Given the description of an element on the screen output the (x, y) to click on. 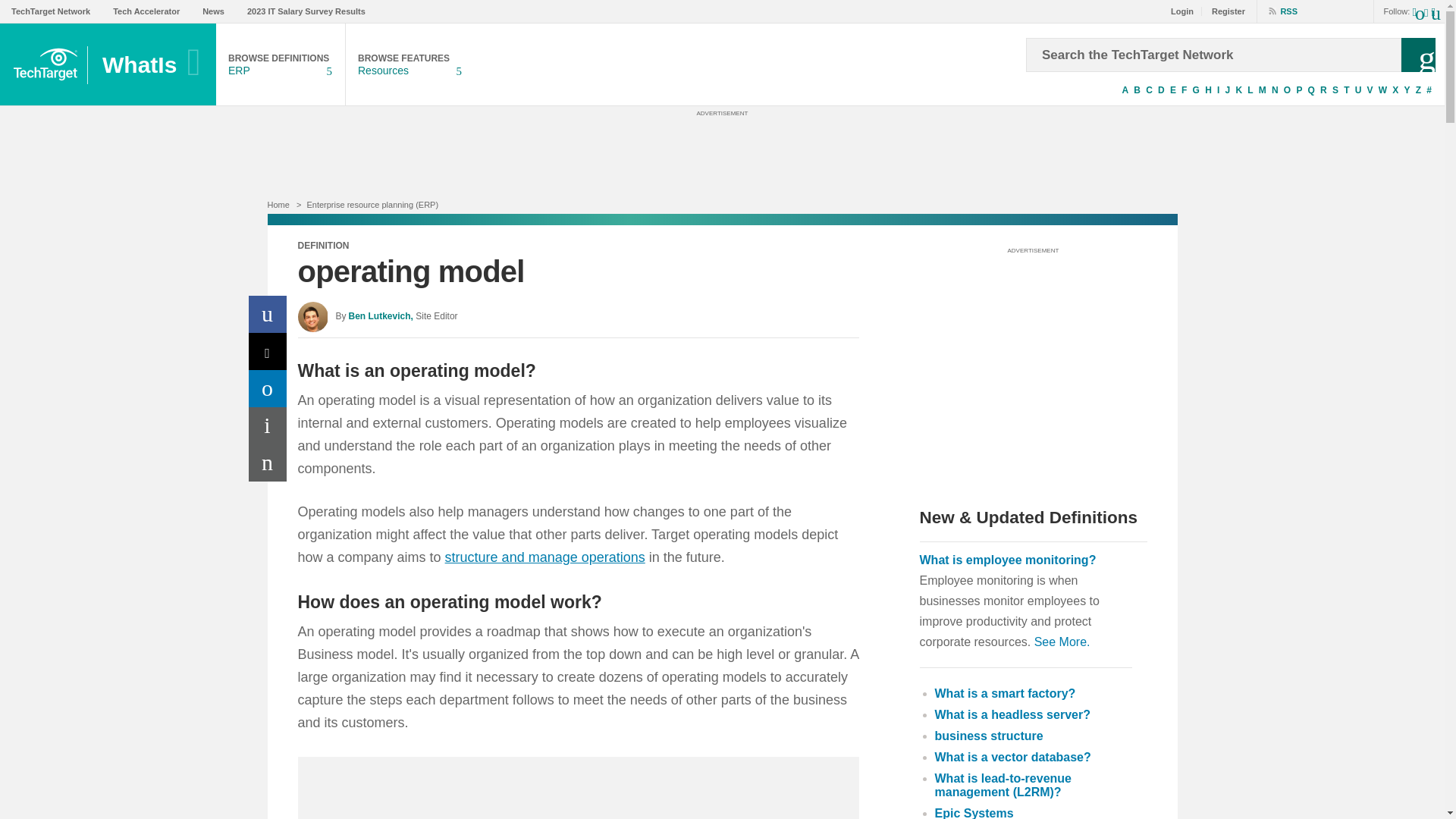
G (1195, 90)
Email a Friend (267, 462)
Q (1310, 90)
Register (1224, 10)
O (1287, 90)
Tech Accelerator (146, 10)
Share on X (267, 351)
RSS (1277, 10)
Share on LinkedIn (267, 388)
Print This Page (267, 425)
B (1136, 90)
2023 IT Salary Survey Results (306, 10)
WhatIs (152, 64)
News (213, 10)
Share on Facebook (267, 313)
